Given the description of an element on the screen output the (x, y) to click on. 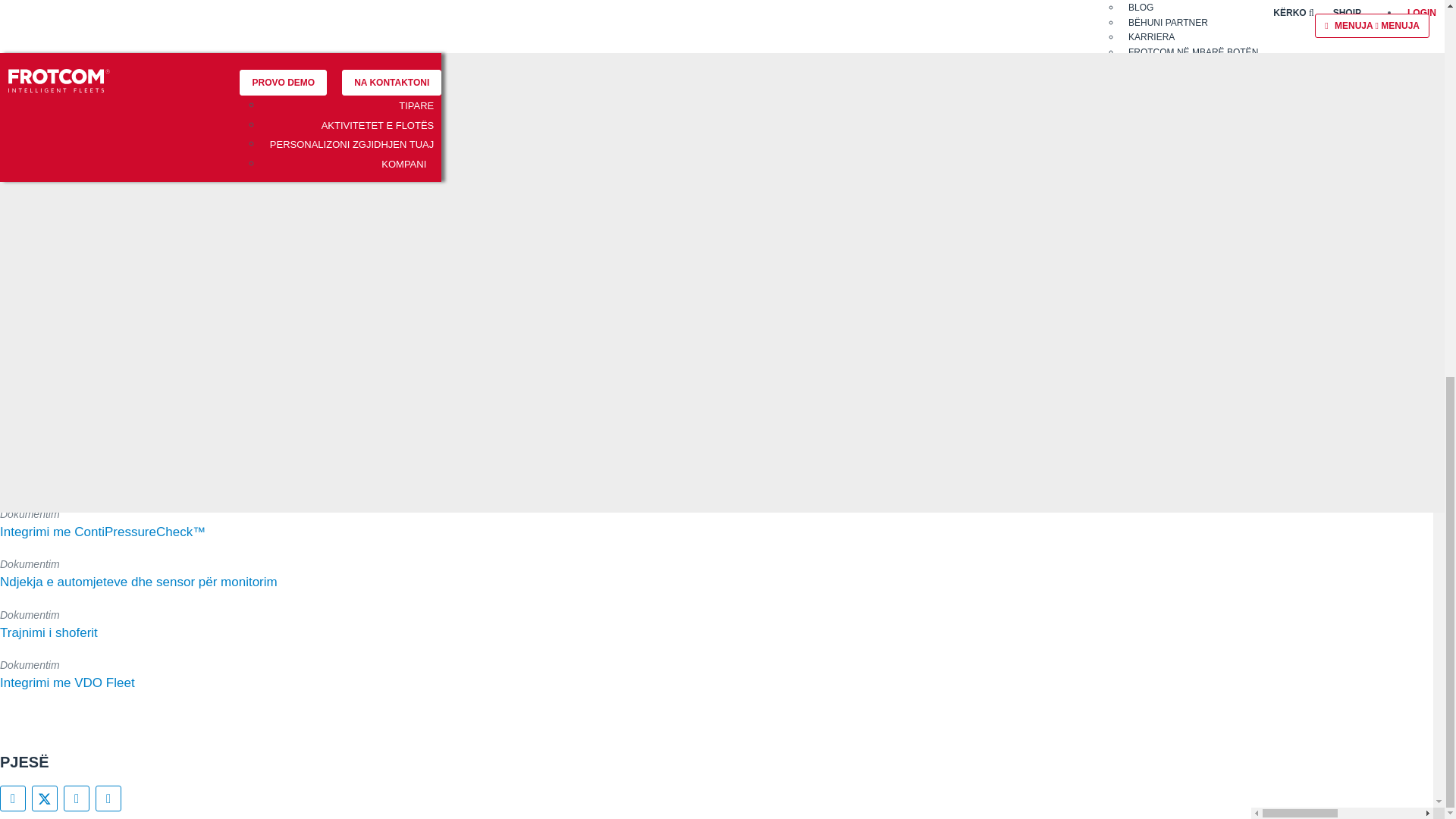
Inovadora Cotec (994, 369)
ISO 9001 (863, 369)
Gold Microsoft Partner (634, 369)
